Given the description of an element on the screen output the (x, y) to click on. 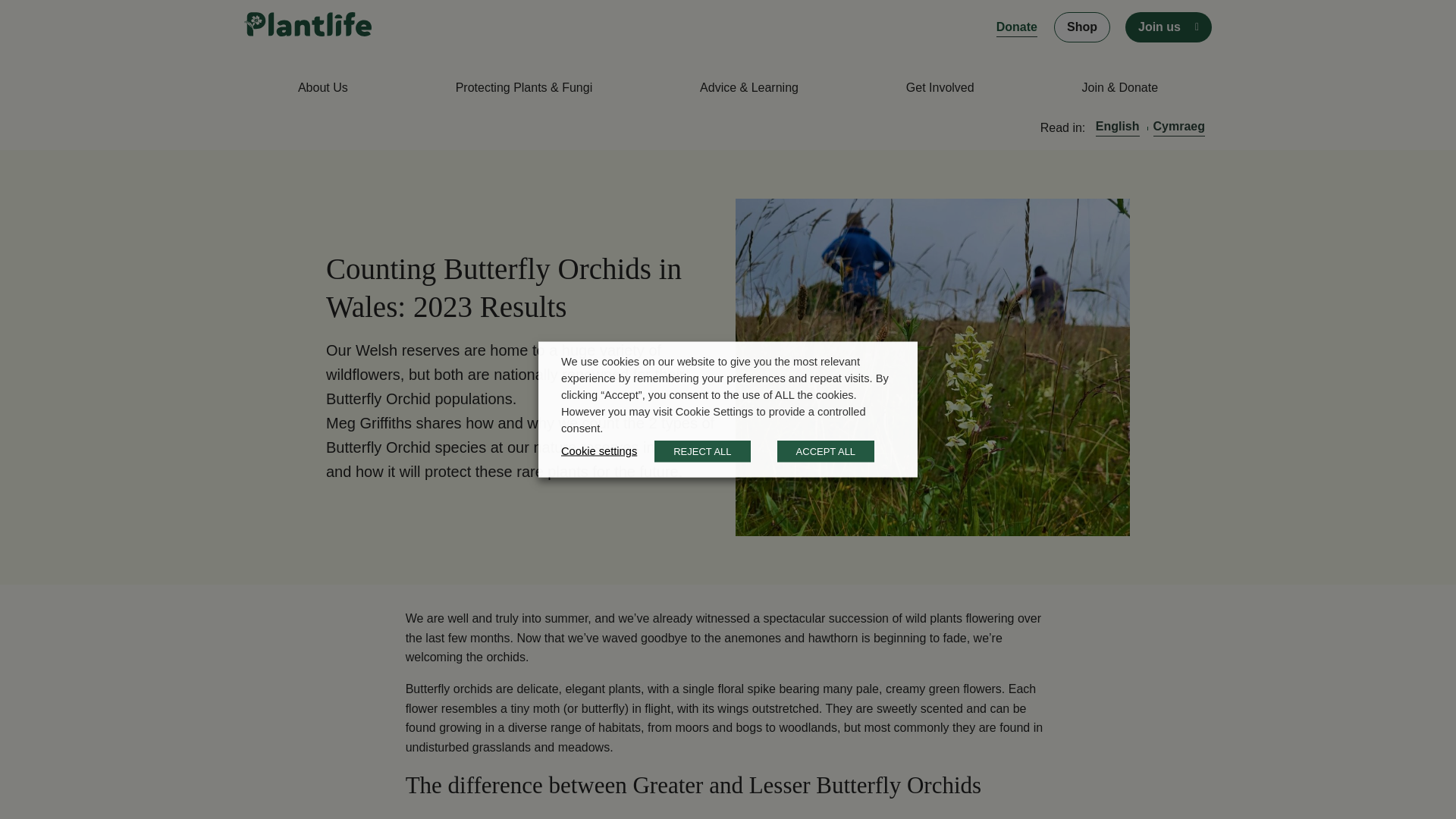
Donate (1015, 27)
Shop (1082, 27)
Join us (1159, 27)
